Given the description of an element on the screen output the (x, y) to click on. 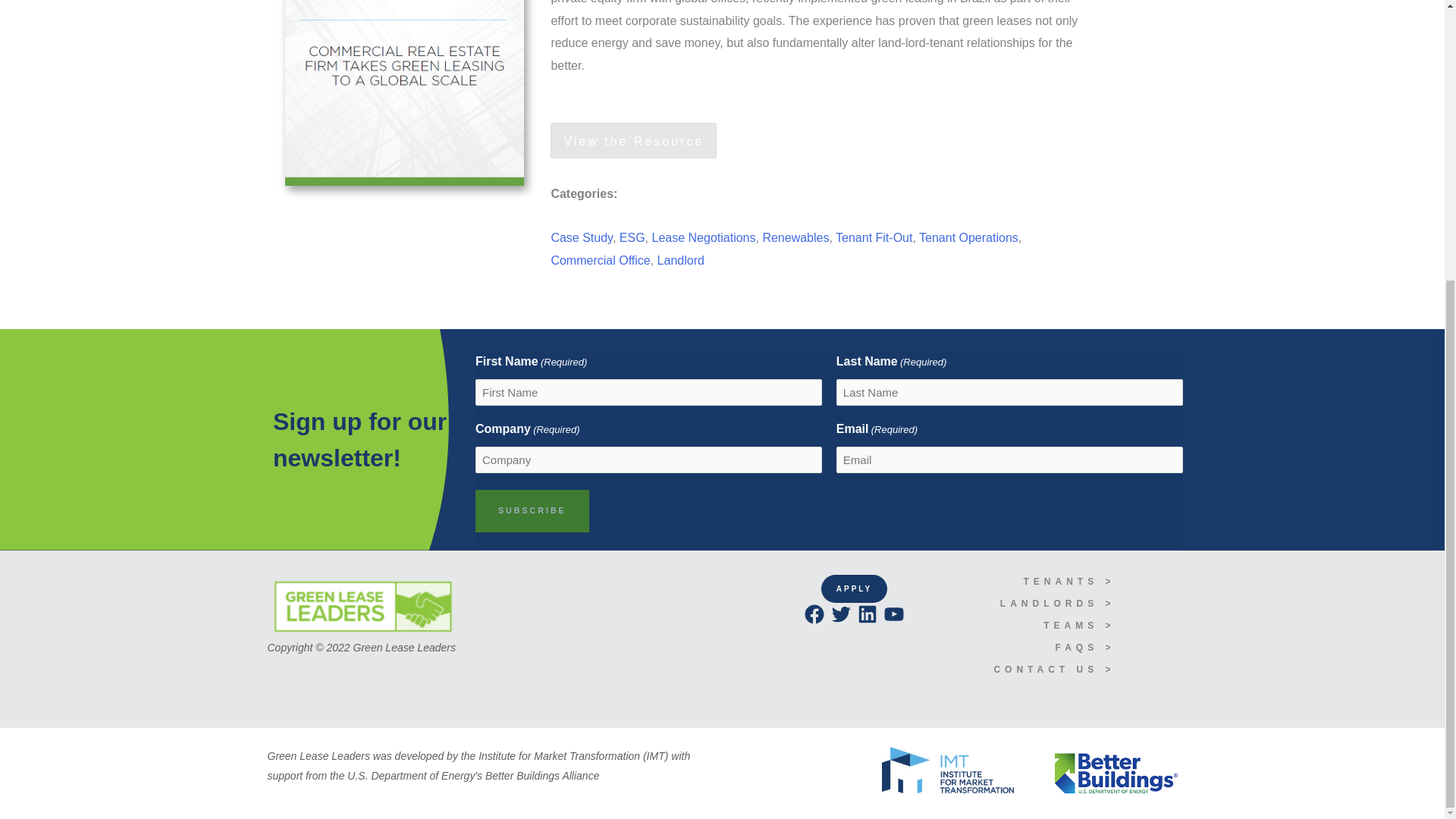
Subscribe (532, 510)
